Given the description of an element on the screen output the (x, y) to click on. 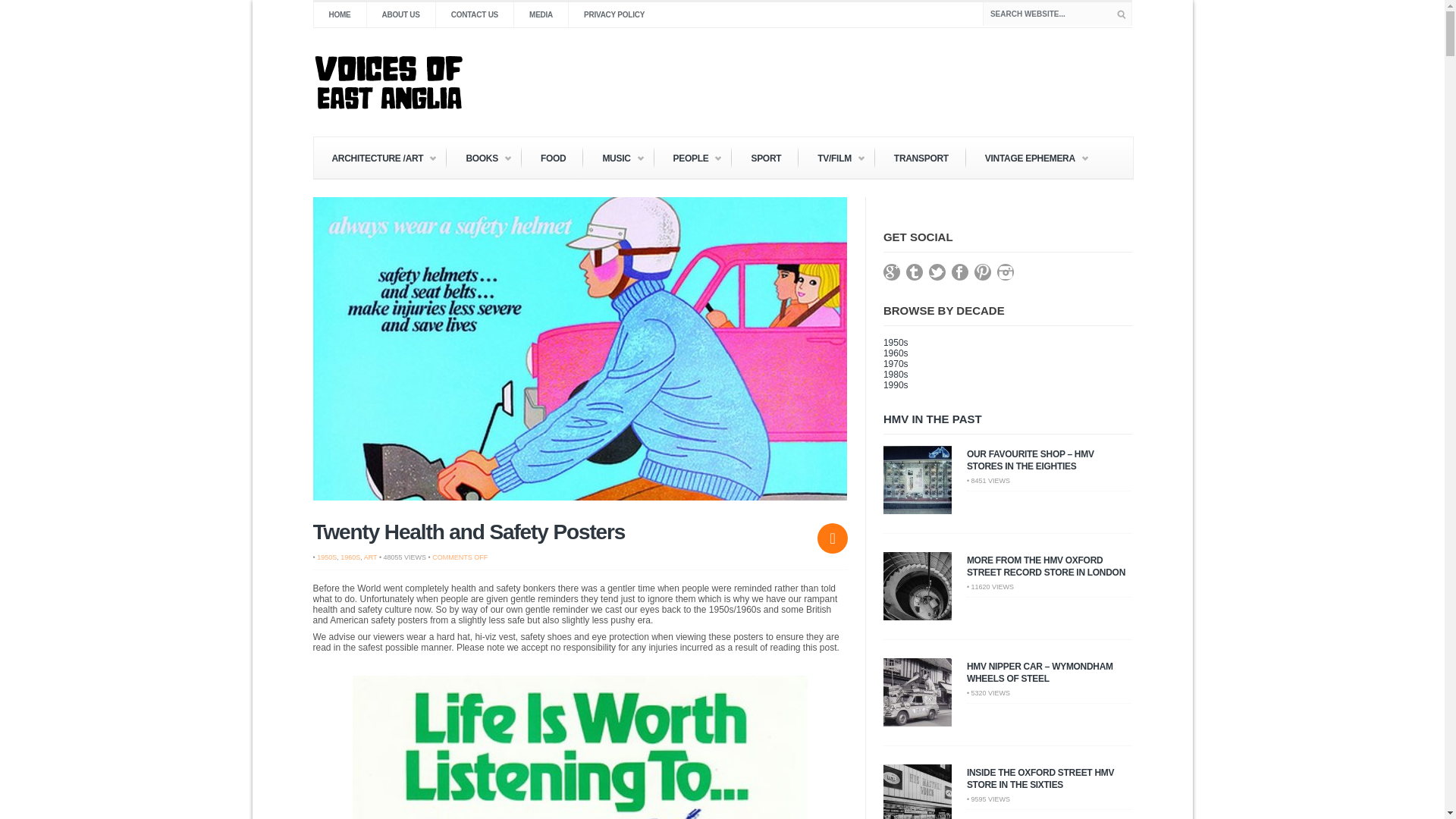
ABOUT US (399, 14)
Twenty Health and Safety Posters (468, 531)
More From The HMV Oxford Street Record Store in London (1045, 566)
FOOD (552, 158)
HOME (339, 14)
Search website... (1056, 13)
Instagram (1009, 275)
Facebook (963, 275)
1950S (326, 557)
SPORT (765, 158)
CONTACT US (474, 14)
1960S (349, 557)
Pinterest (986, 275)
MEDIA (540, 14)
TRANSPORT (921, 158)
